Given the description of an element on the screen output the (x, y) to click on. 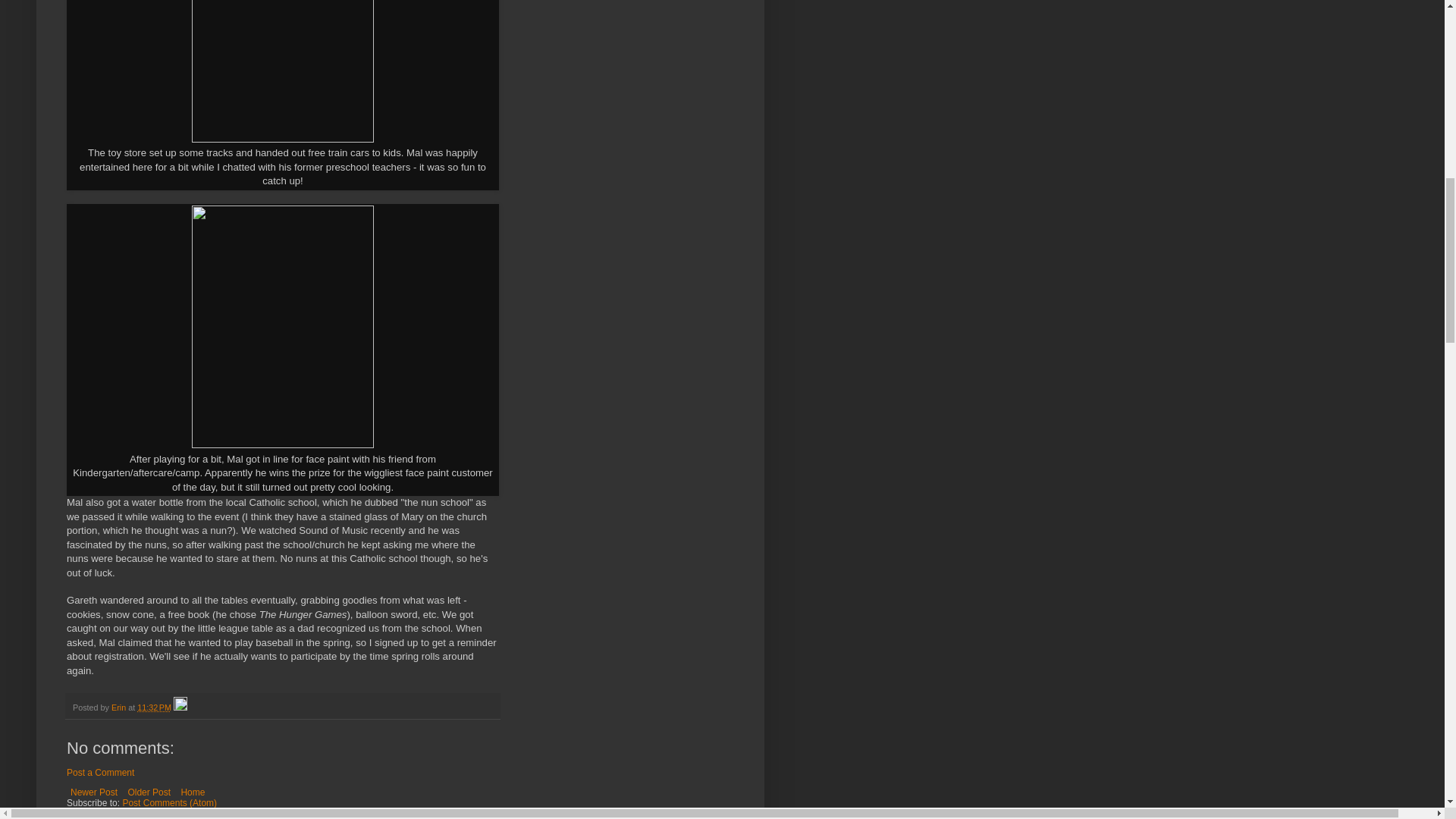
Home (192, 791)
permanent link (153, 706)
Older Post (148, 791)
Newer Post (93, 791)
Newer Post (93, 791)
author profile (120, 706)
Erin (120, 706)
Post a Comment (99, 772)
Edit Post (180, 706)
Older Post (148, 791)
